Given the description of an element on the screen output the (x, y) to click on. 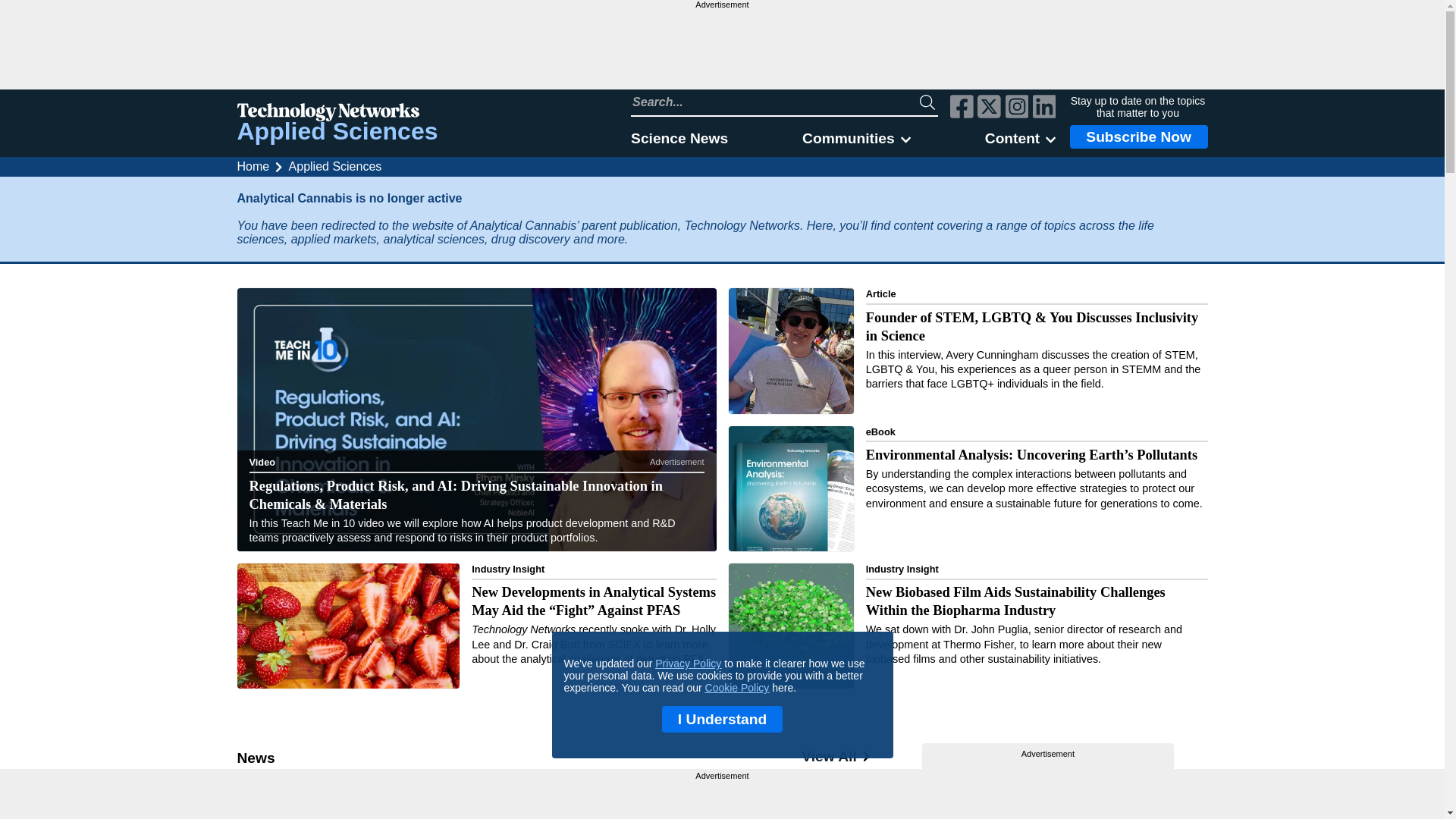
I Understand (722, 718)
Advertisement (722, 794)
Search Technology Networks website input field (775, 102)
Technology Networks logo (336, 113)
Privacy Policy (687, 663)
Cookie Policy (737, 687)
